Given the description of an element on the screen output the (x, y) to click on. 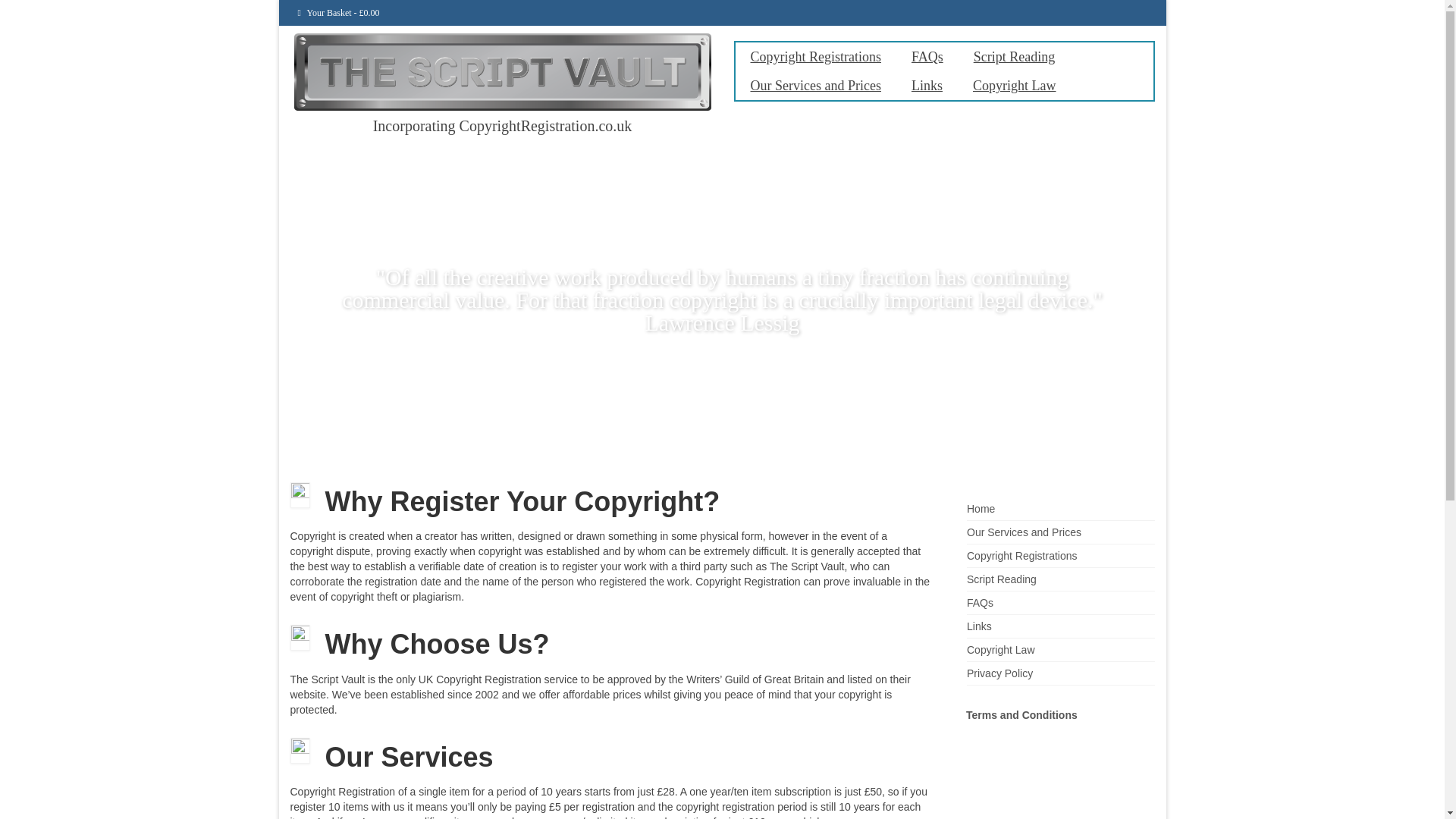
FAQs (927, 56)
Links (927, 85)
Privacy Policy (999, 673)
Terms and Conditions (1021, 715)
Home (980, 508)
Copyright Registrations (1021, 555)
Links (978, 625)
View your shopping basket (338, 12)
Copyright Law (1014, 85)
Our Services and Prices (1023, 532)
